Given the description of an element on the screen output the (x, y) to click on. 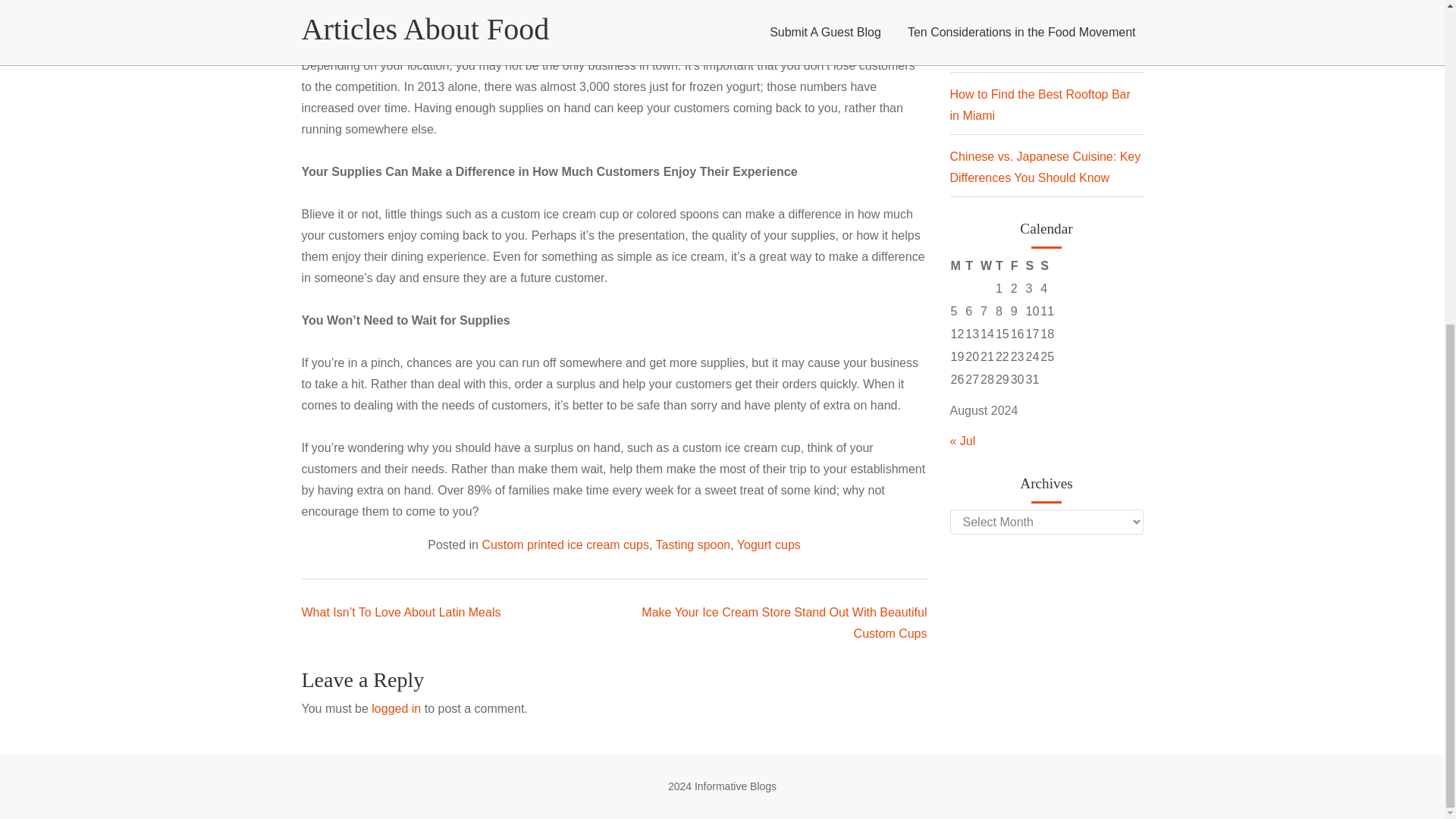
How to Find the Best Rooftop Bar in Miami (1039, 104)
Yogurt cups (768, 544)
logged in (395, 707)
Tasting spoon (693, 544)
Custom printed ice cream cups (565, 544)
